Given the description of an element on the screen output the (x, y) to click on. 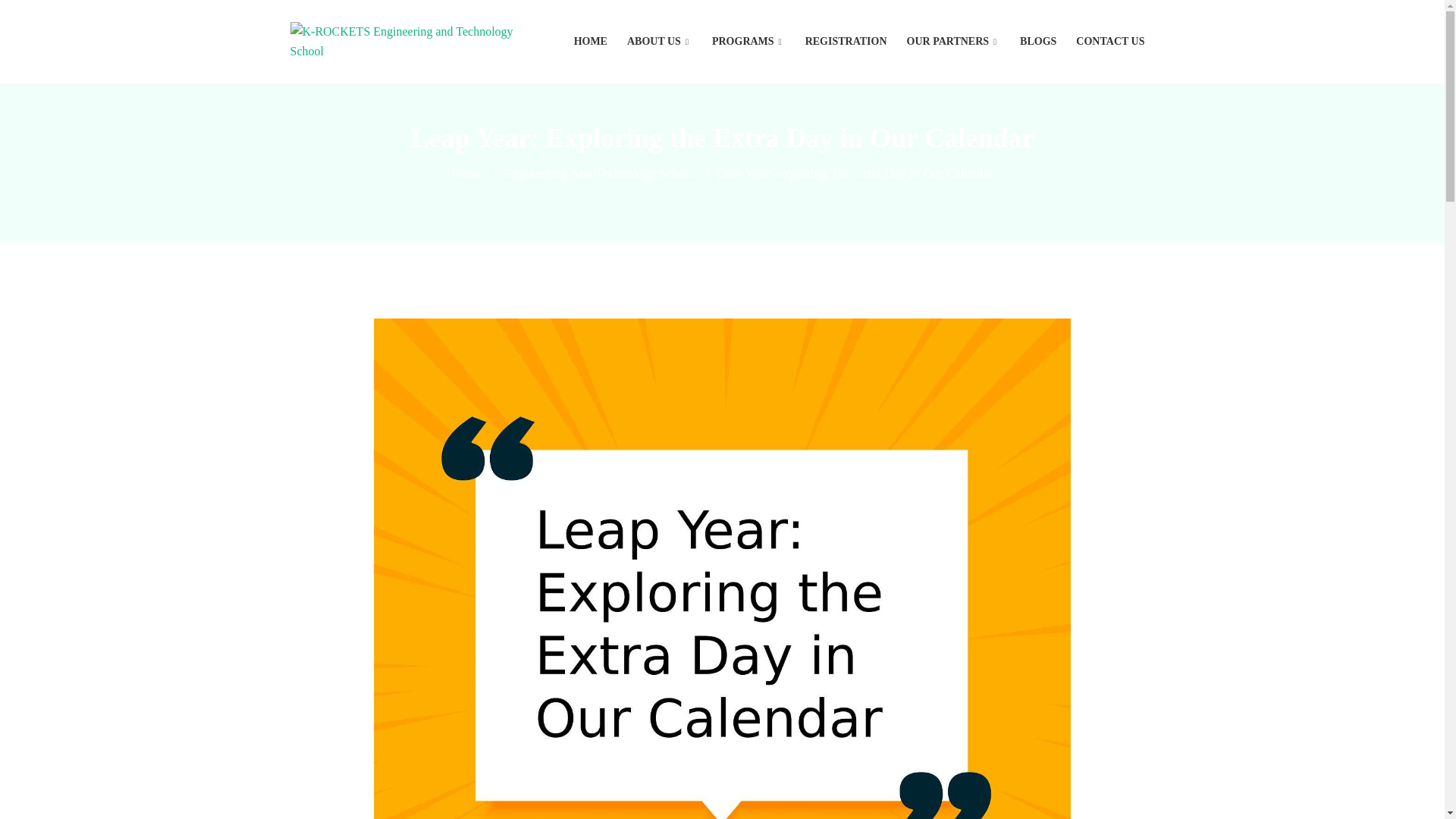
OUR PARTNERS (954, 41)
REGISTRATION (845, 41)
Home (467, 173)
